Given the description of an element on the screen output the (x, y) to click on. 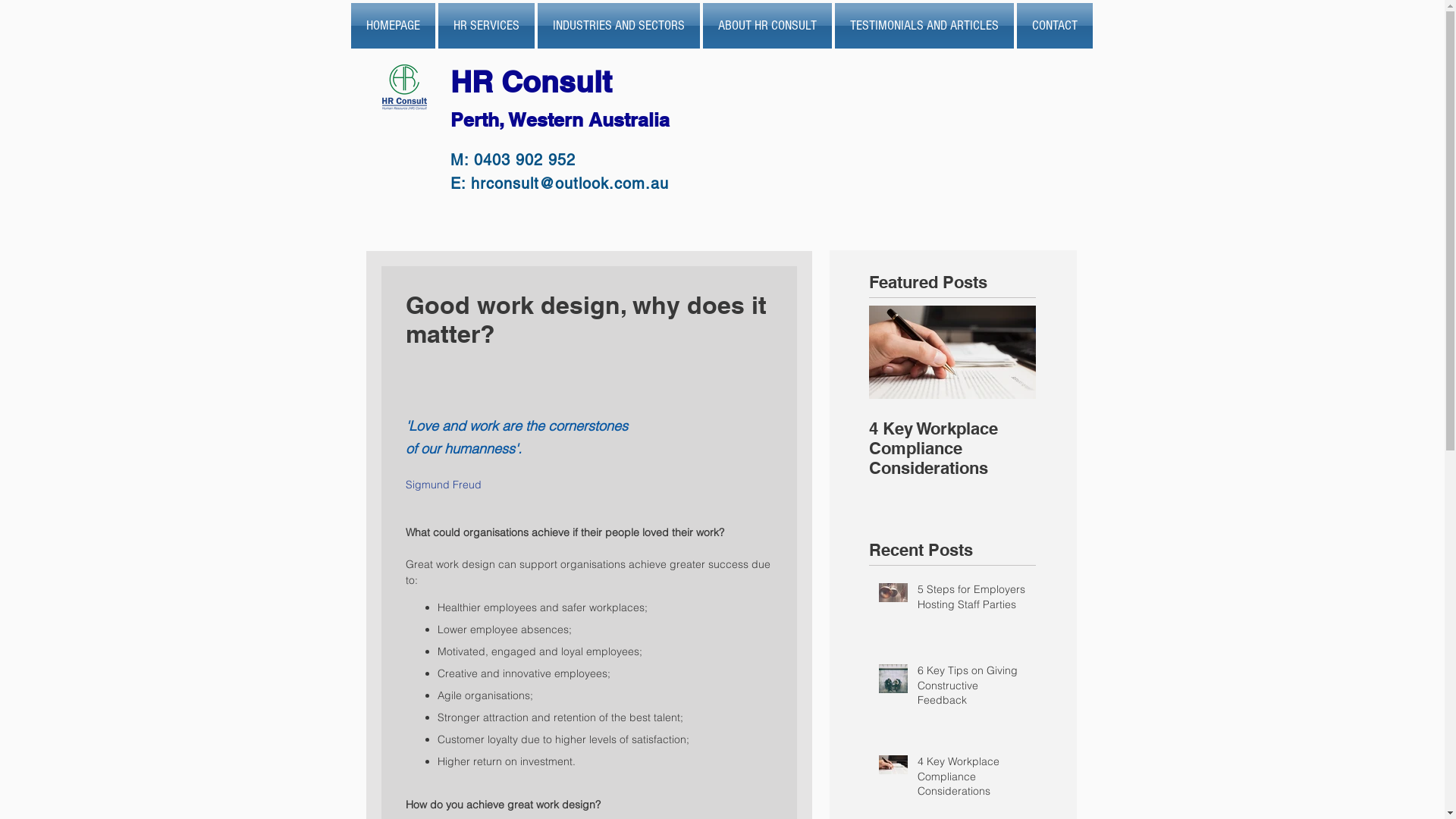
HR SERVICES Element type: text (486, 25)
INDUSTRIES AND SECTORS Element type: text (617, 25)
ABOUT HR CONSULT Element type: text (766, 25)
Perth, Western Australia Element type: text (559, 119)
TESTIMONIALS AND ARTICLES Element type: text (923, 25)
6 Key Tips on Giving Constructive Feedback Element type: text (971, 688)
  Element type: text (672, 115)
4 Key Workplace Compliance Considerations Element type: text (971, 779)
HOMEPAGE Element type: text (393, 25)
HR Consult  Element type: text (535, 81)
5 Steps for Employers Hosting Staff Parties Element type: text (971, 600)
CONTACT Element type: text (1053, 25)
4 Key Workplace Compliance Considerations Element type: text (952, 447)
hrconsult@outlook.com.au Element type: text (569, 183)
